Given the description of an element on the screen output the (x, y) to click on. 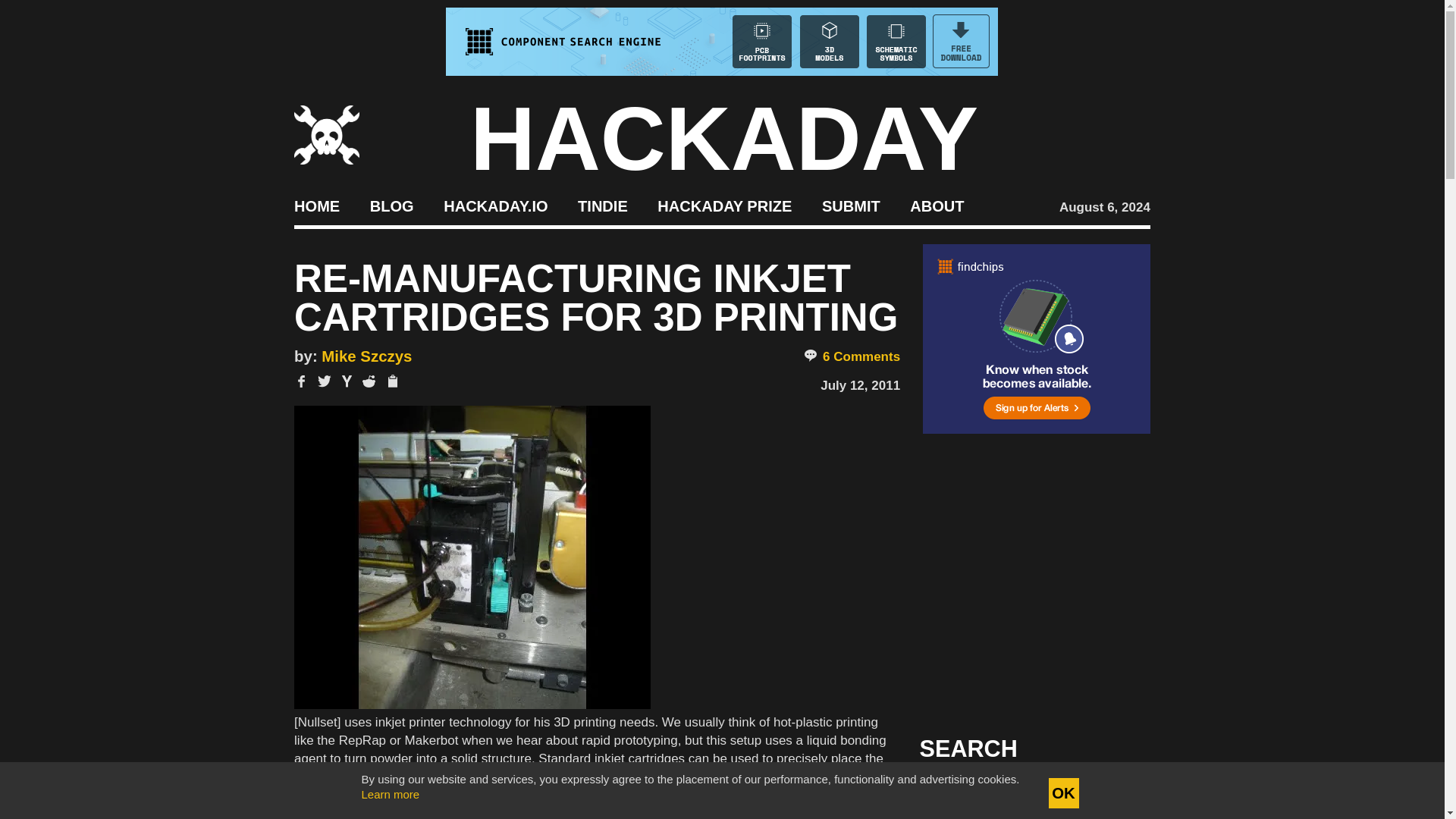
HACKADAY.IO (495, 205)
Posts by Mike Szczys (366, 356)
HACKADAY PRIZE (725, 205)
Share on Hacker News (347, 381)
Build Something that Matters (725, 205)
Search (1115, 792)
Share on Reddit (369, 381)
ABOUT (936, 205)
Search (1115, 792)
BLOG (391, 205)
6 Comments (851, 356)
July 12, 2011 - 6:01 am (860, 385)
Copy title or shortlink (391, 381)
HACKADAY (724, 138)
